Given the description of an element on the screen output the (x, y) to click on. 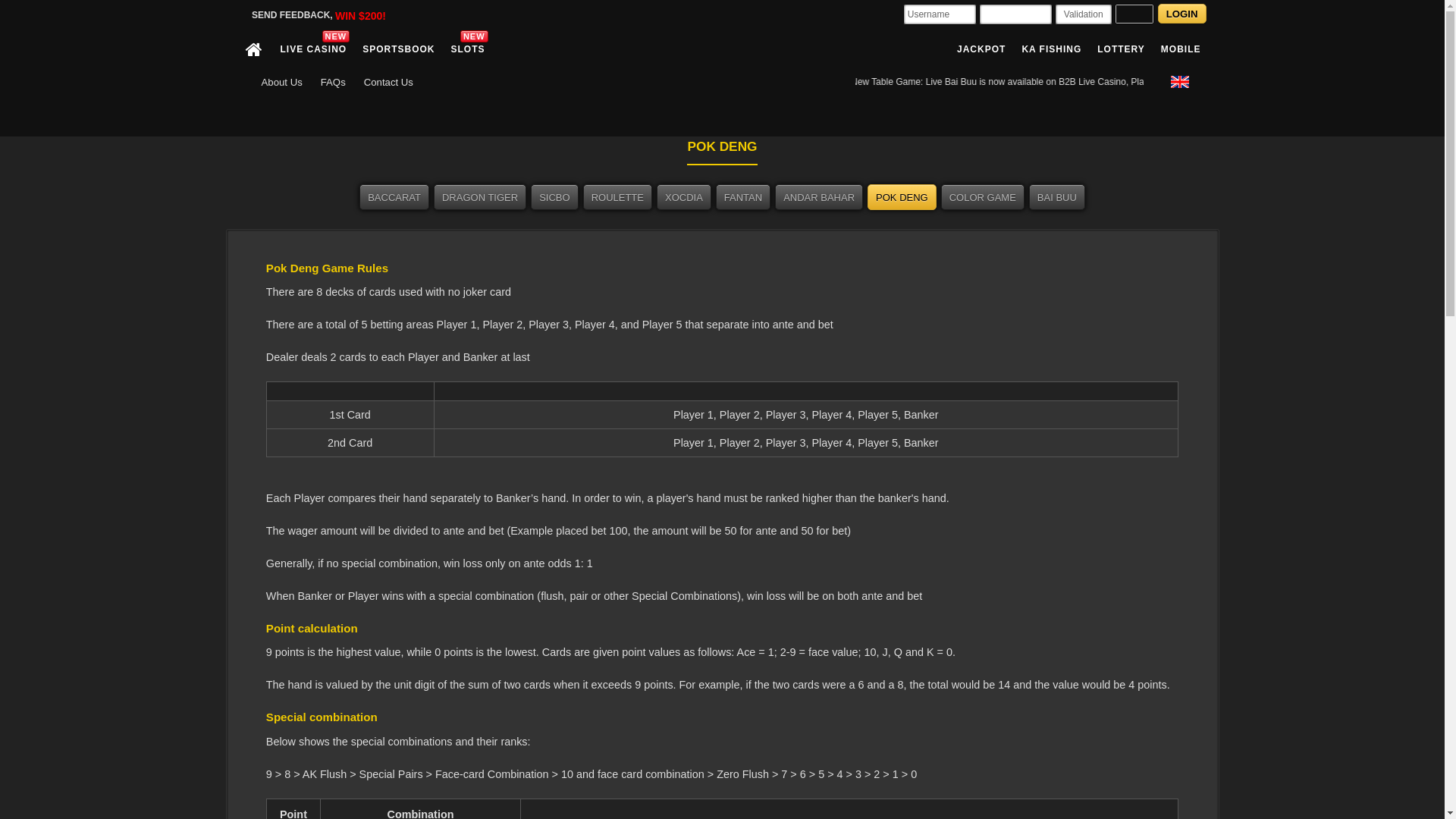
ANDAR BAHAR Element type: text (818, 197)
COLOR GAME Element type: text (982, 197)
LIVE CASINO
NEW Element type: text (310, 49)
MOBILE Element type: text (1179, 49)
LOGIN Element type: text (1181, 13)
BAI BUU Element type: text (1057, 197)
FANTAN Element type: text (742, 197)
About Us Element type: text (280, 83)
Contact Us Element type: text (388, 83)
BACCARAT Element type: text (394, 197)
LOTTERY Element type: text (1119, 49)
DRAGON TIGER Element type: text (479, 197)
POK DENG Element type: text (901, 197)
SPORTSBOOK Element type: text (396, 49)
ROULETTE Element type: text (617, 197)
SLOTS
NEW Element type: text (466, 49)
KA FISHING Element type: text (1049, 49)
SICBO Element type: text (553, 197)
SEND FEEDBACK, WIN $200! Element type: text (318, 15)
XOCDIA Element type: text (683, 197)
FAQs Element type: text (332, 83)
JACKPOT Element type: text (979, 49)
